Given the description of an element on the screen output the (x, y) to click on. 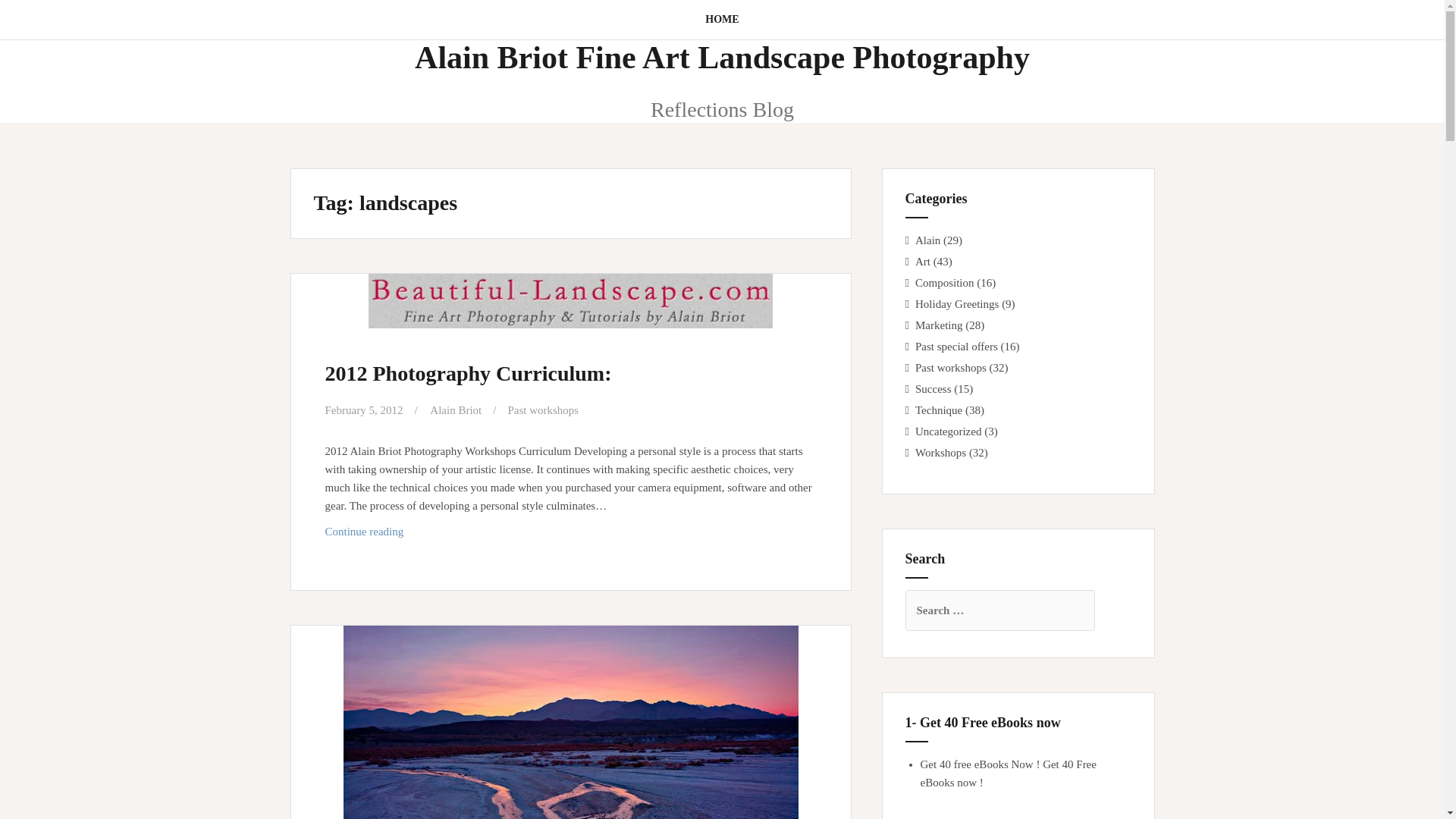
Alain Briot Fine Art Landscape Photography (721, 57)
February 5, 2012 (363, 410)
Alain Briot (455, 410)
2012 Photography Curriculum: (569, 531)
Past workshops (467, 372)
HOME (542, 410)
Get 40 Free eBooks now ! (721, 19)
